Given the description of an element on the screen output the (x, y) to click on. 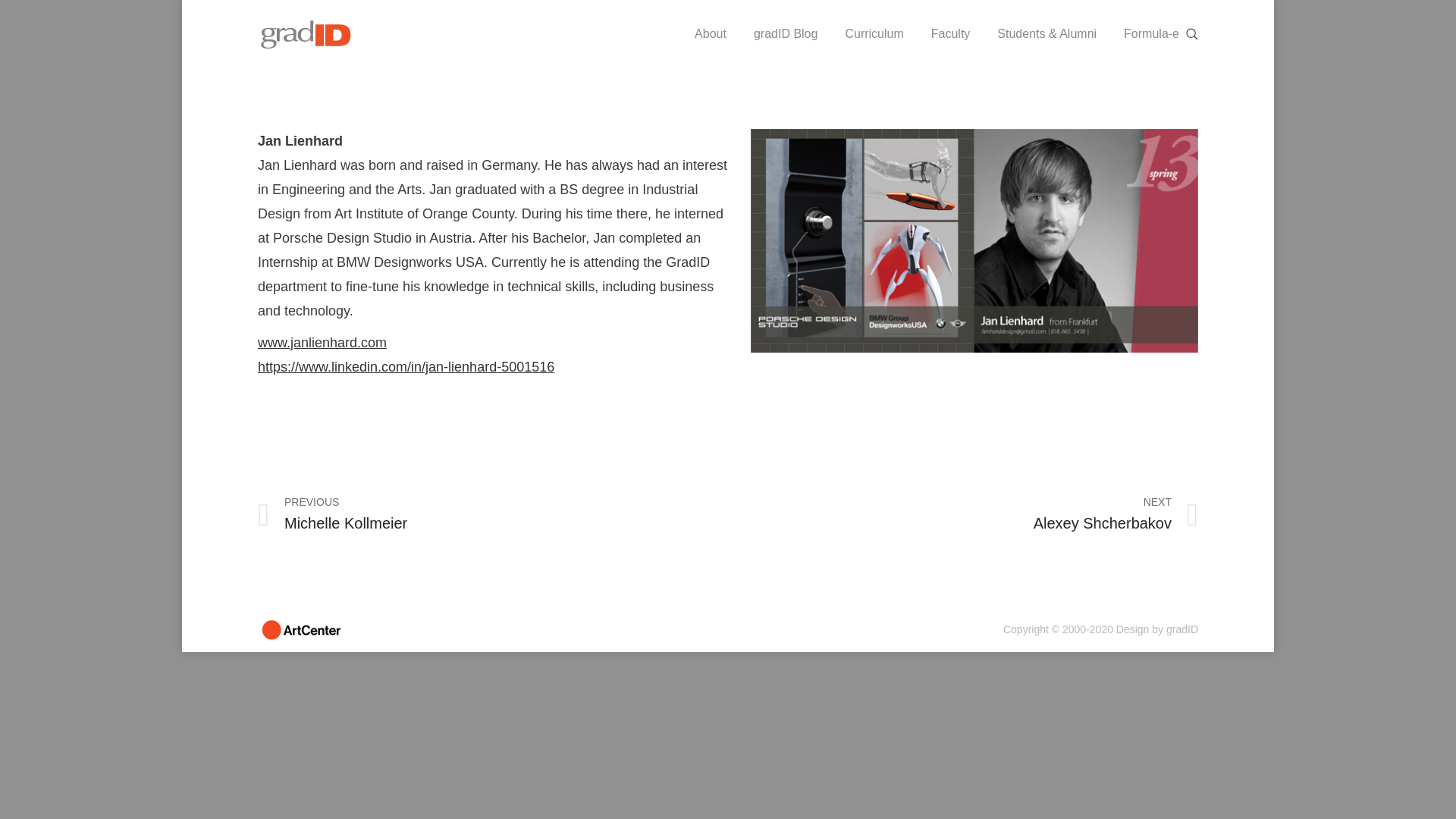
gradID Blog (786, 33)
Go! (13, 7)
Faculty (951, 33)
Curriculum (873, 33)
Jan Lienhard (974, 240)
Formula-e (1151, 33)
